Given the description of an element on the screen output the (x, y) to click on. 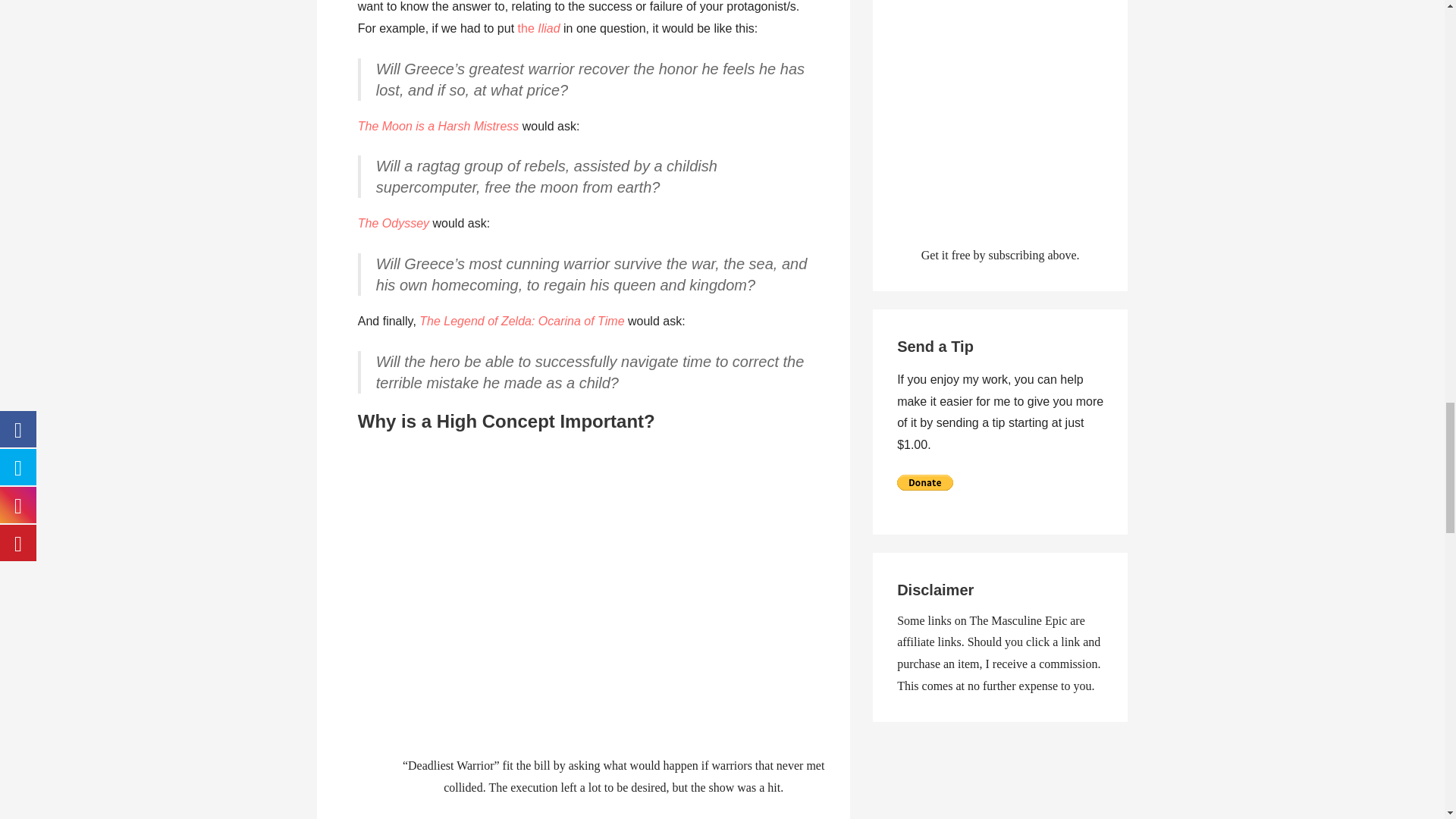
Homer: The Odyssey: The Book for Our Time (393, 223)
The Legend of Zelda: Ocarina of Time (521, 320)
The Moon is a Harsh Mistress (438, 125)
The Odyssey (393, 223)
the Iliad (539, 28)
